Given the description of an element on the screen output the (x, y) to click on. 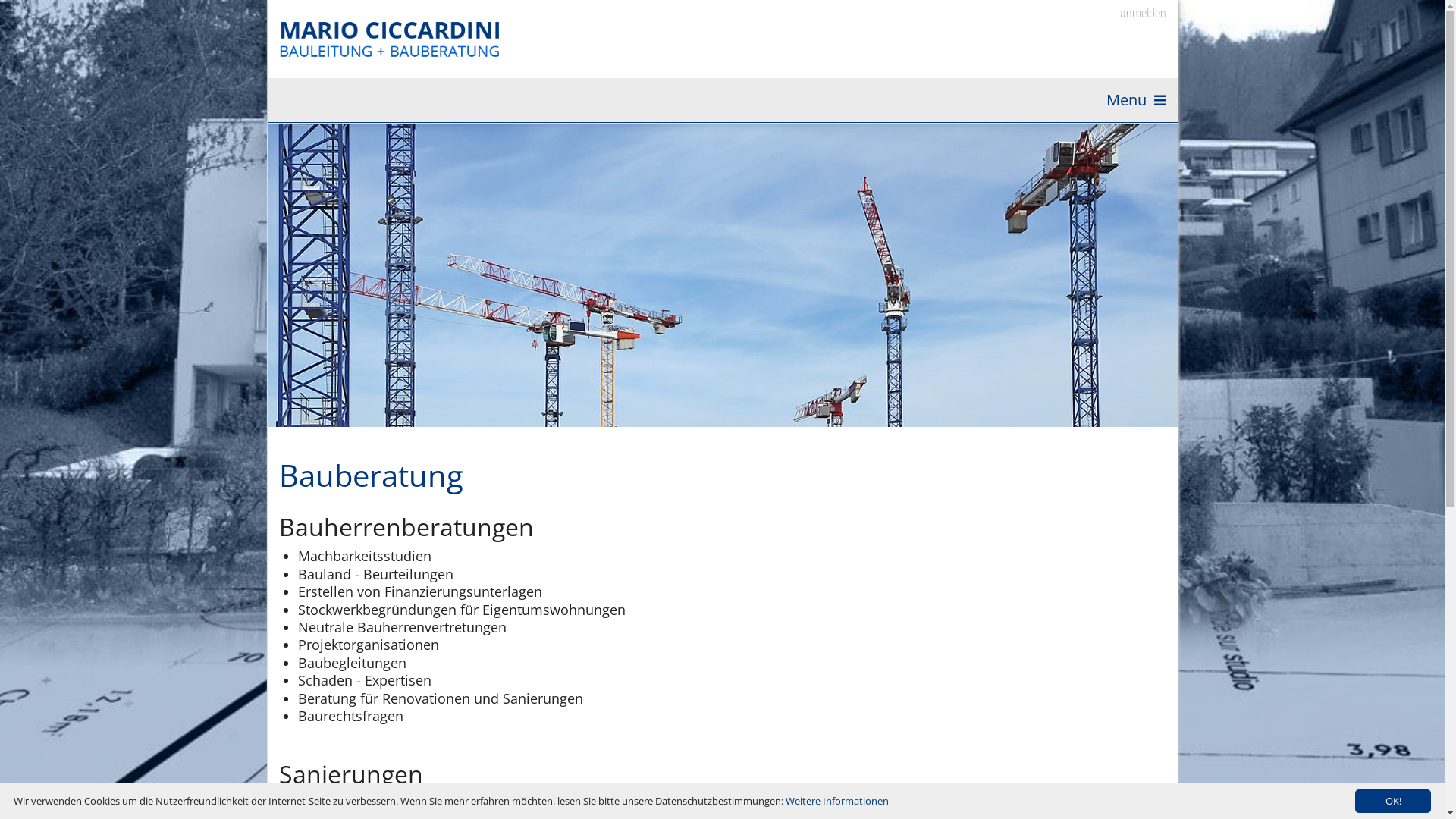
Weitere Informationen Element type: text (836, 800)
Mario Ciccardini Element type: hover (392, 38)
anmelden Element type: text (1132, 13)
